Given the description of an element on the screen output the (x, y) to click on. 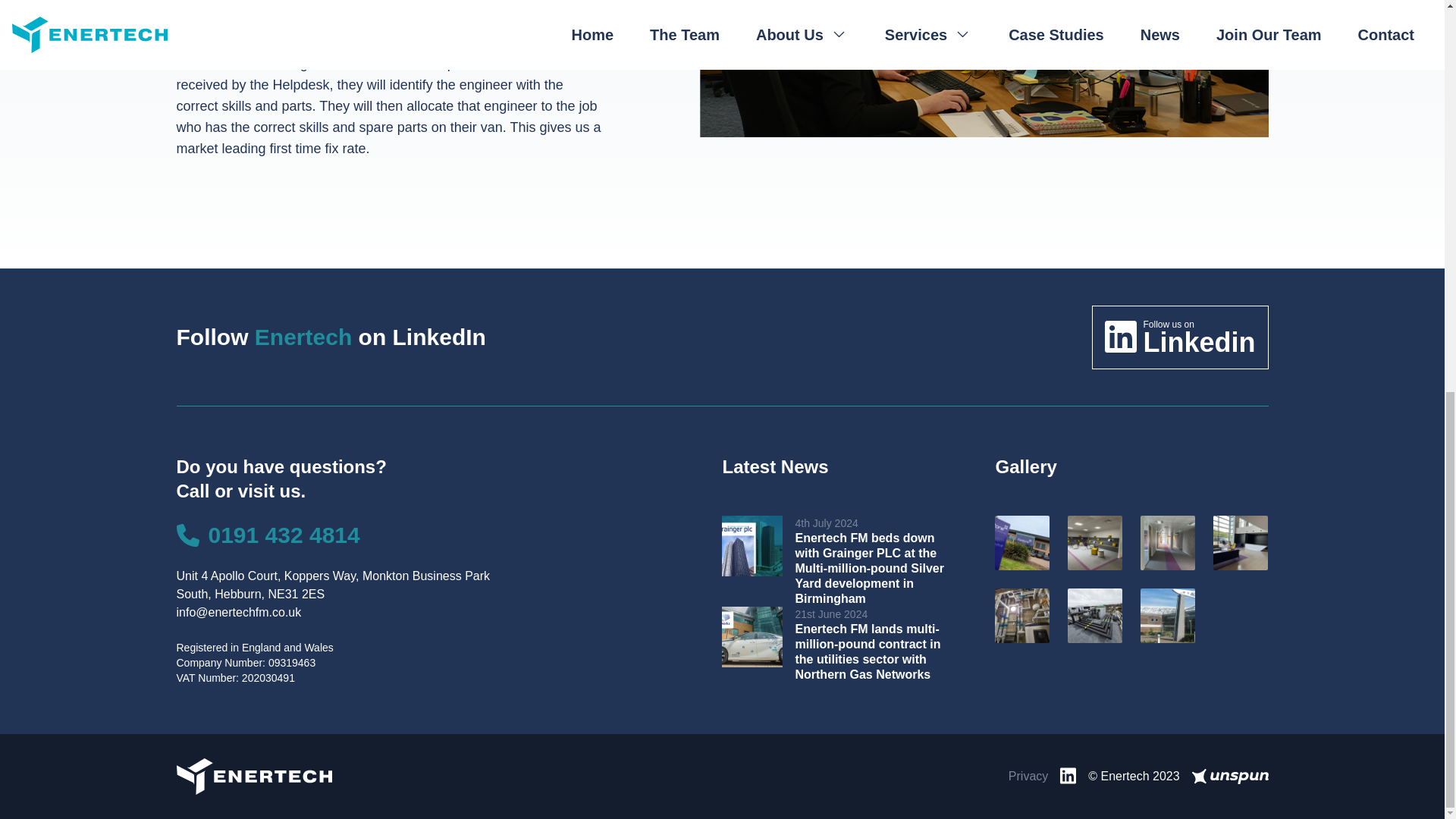
Privacy (1180, 337)
Website by Unspun (1028, 776)
0191 432 4814 (1230, 776)
